Given the description of an element on the screen output the (x, y) to click on. 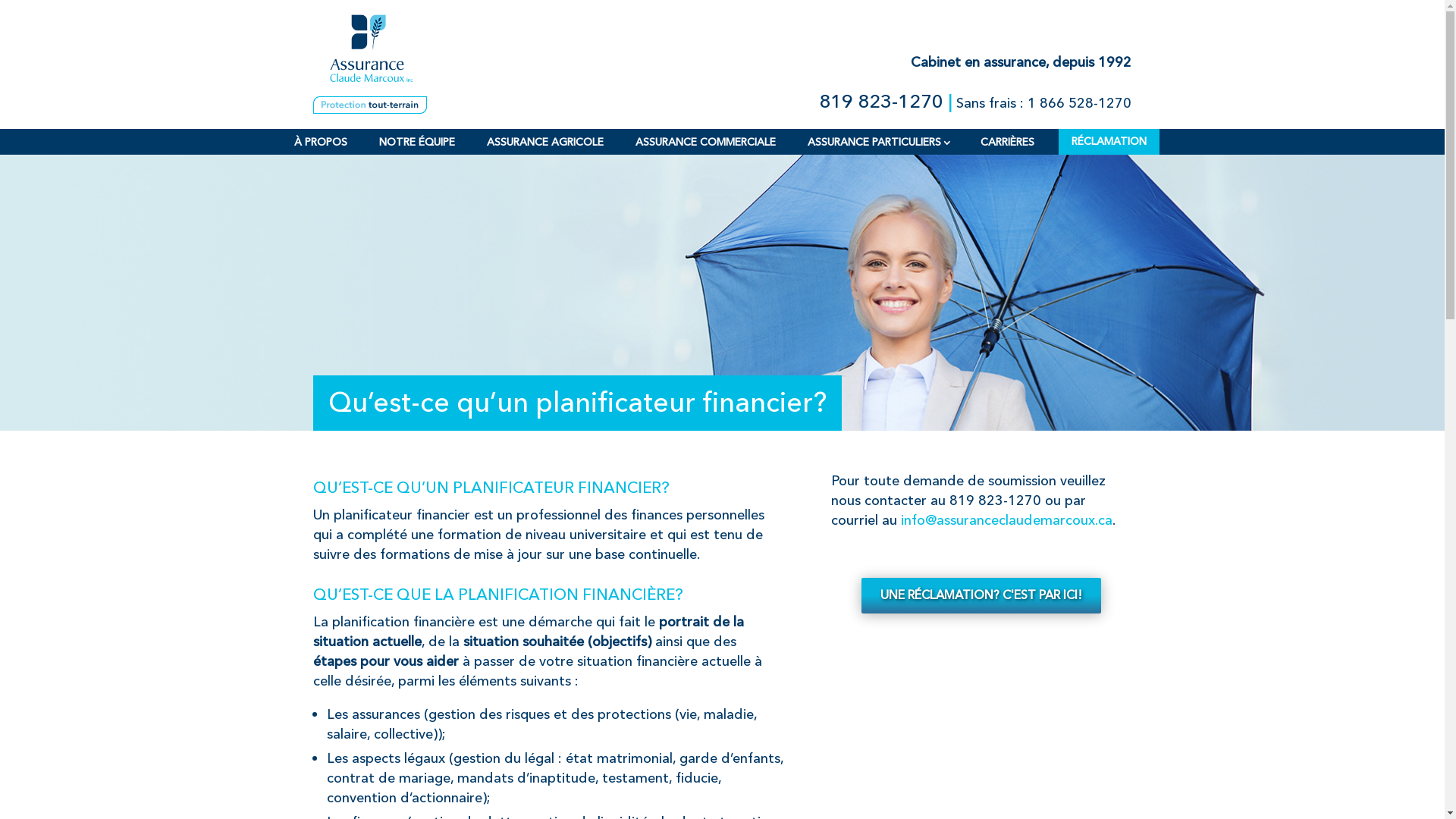
1 866 528-1270 Element type: text (1079, 103)
ASSURANCE PARTICULIERS Element type: text (877, 149)
819 823-1270 | Element type: text (885, 101)
info@assuranceclaudemarcoux.ca Element type: text (1006, 520)
ASSURANCE COMMERCIALE Element type: text (705, 149)
ASSURANCE AGRICOLE Element type: text (545, 149)
